Given the description of an element on the screen output the (x, y) to click on. 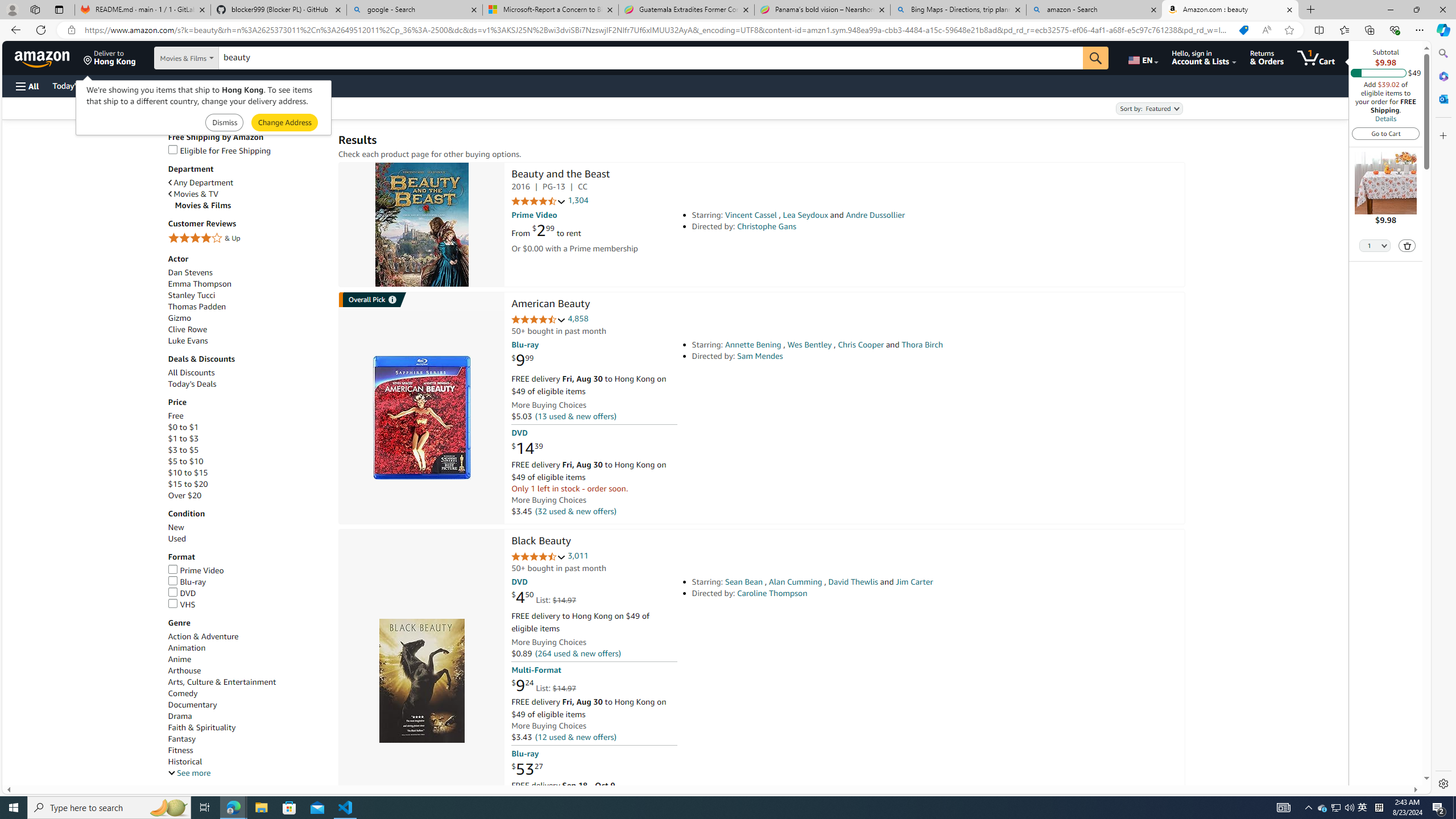
(12 used & new offers) (574, 736)
Alan Cumming (795, 581)
New (175, 527)
Amazon (43, 57)
Today's Deals (247, 384)
Sort by: (1148, 108)
Used (247, 538)
Stanley Tucci (191, 294)
VHS (247, 604)
